Given the description of an element on the screen output the (x, y) to click on. 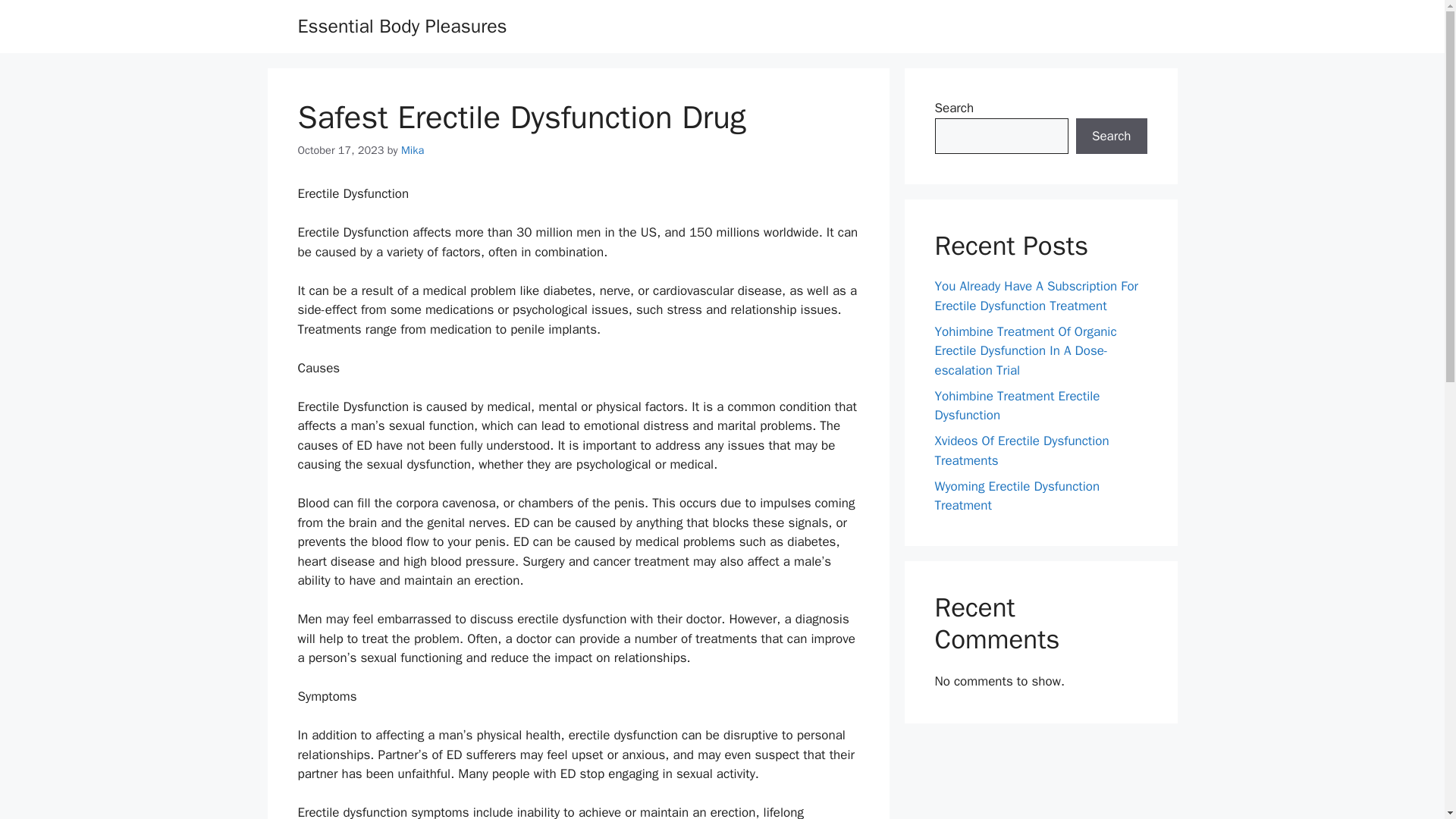
Xvideos Of Erectile Dysfunction Treatments (1021, 450)
View all posts by Mika (412, 150)
Mika (412, 150)
Essential Body Pleasures (401, 25)
Wyoming Erectile Dysfunction Treatment (1016, 495)
Yohimbine Treatment Erectile Dysfunction (1016, 406)
Search (1111, 135)
